Given the description of an element on the screen output the (x, y) to click on. 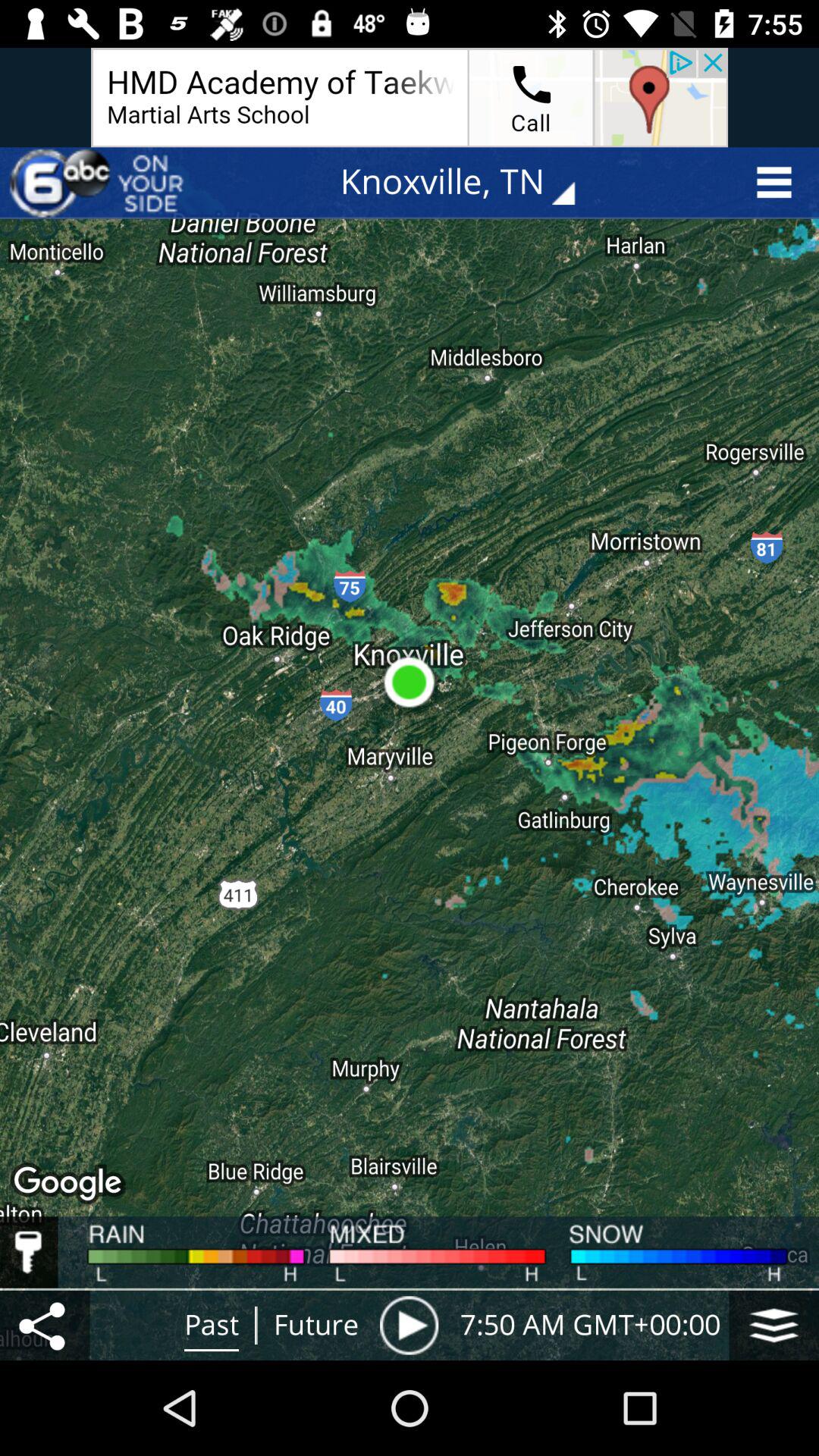
turn on the knoxville, tn item (468, 182)
